Given the description of an element on the screen output the (x, y) to click on. 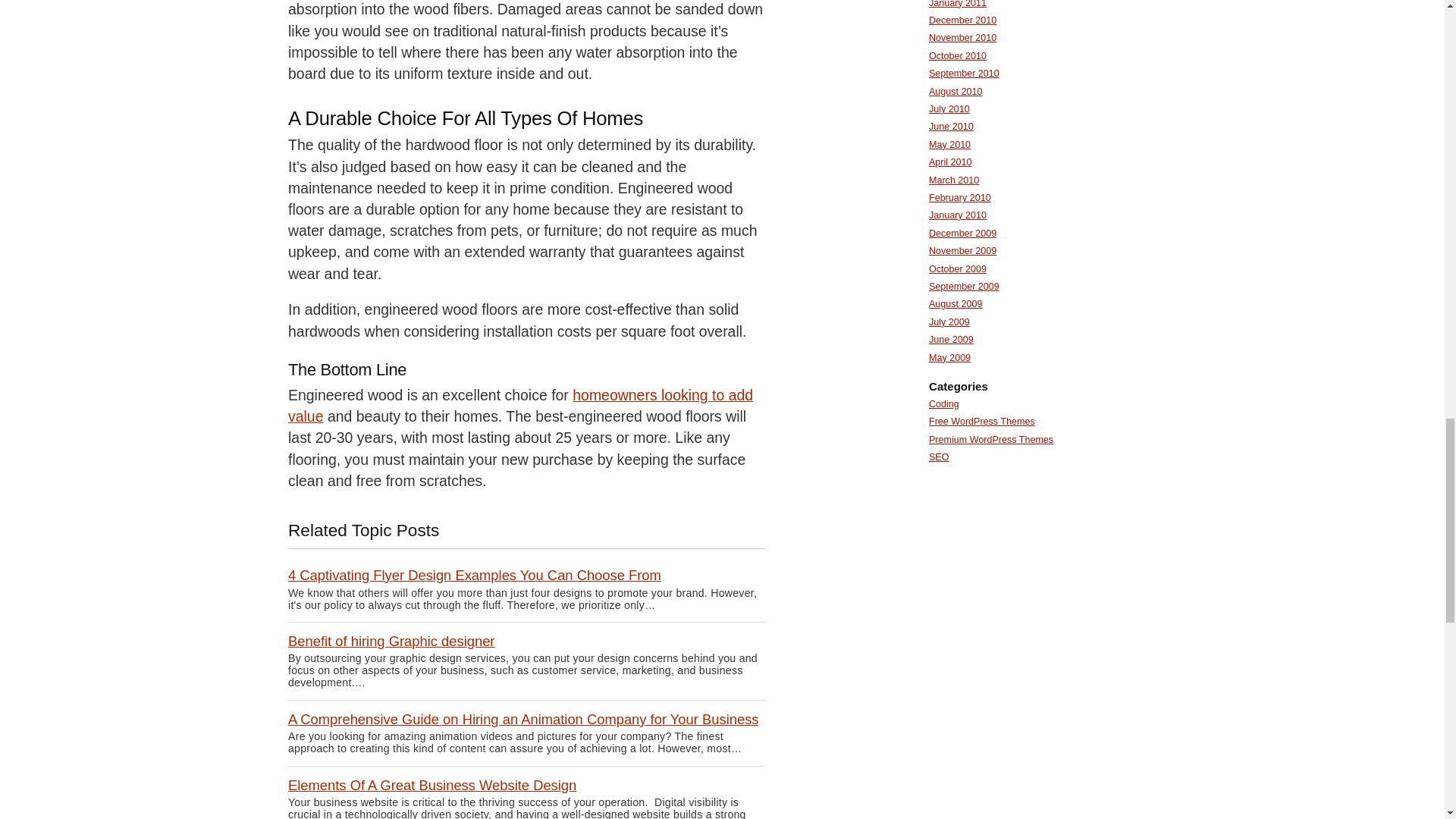
Elements Of A Great Business Website Design (432, 785)
homeowners looking to add value (520, 405)
4 Captivating Flyer Design Examples You Can Choose From (474, 575)
Benefit of hiring Graphic designer (391, 641)
